Given the description of an element on the screen output the (x, y) to click on. 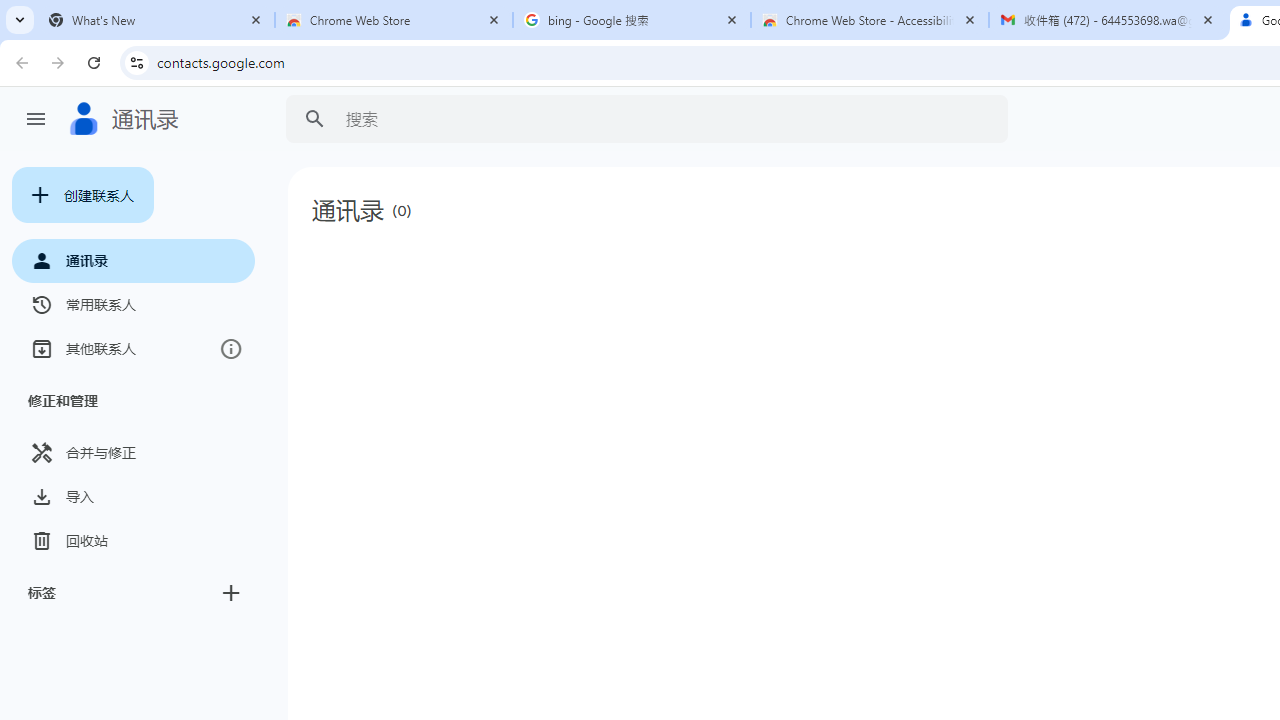
What's New (156, 20)
